Given the description of an element on the screen output the (x, y) to click on. 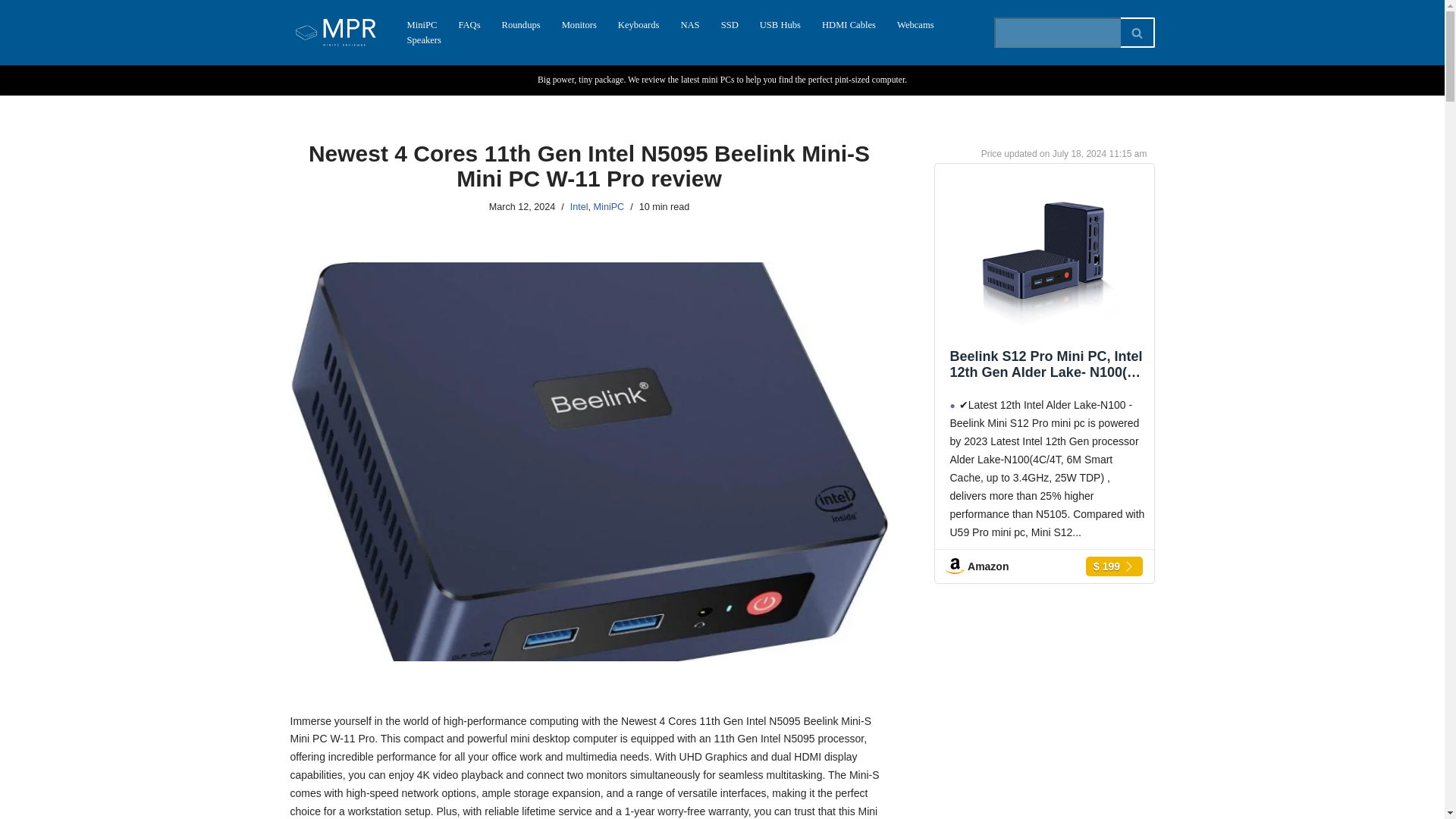
HDMI Cables (849, 24)
Monitors (579, 24)
MiniPC (421, 24)
Skip to content (11, 31)
NAS (688, 24)
SSD (729, 24)
Webcams (915, 24)
Intel (579, 206)
Keyboards (638, 24)
Roundups (521, 24)
Speakers (423, 39)
MiniPC (609, 206)
USB Hubs (780, 24)
FAQs (469, 24)
